Given the description of an element on the screen output the (x, y) to click on. 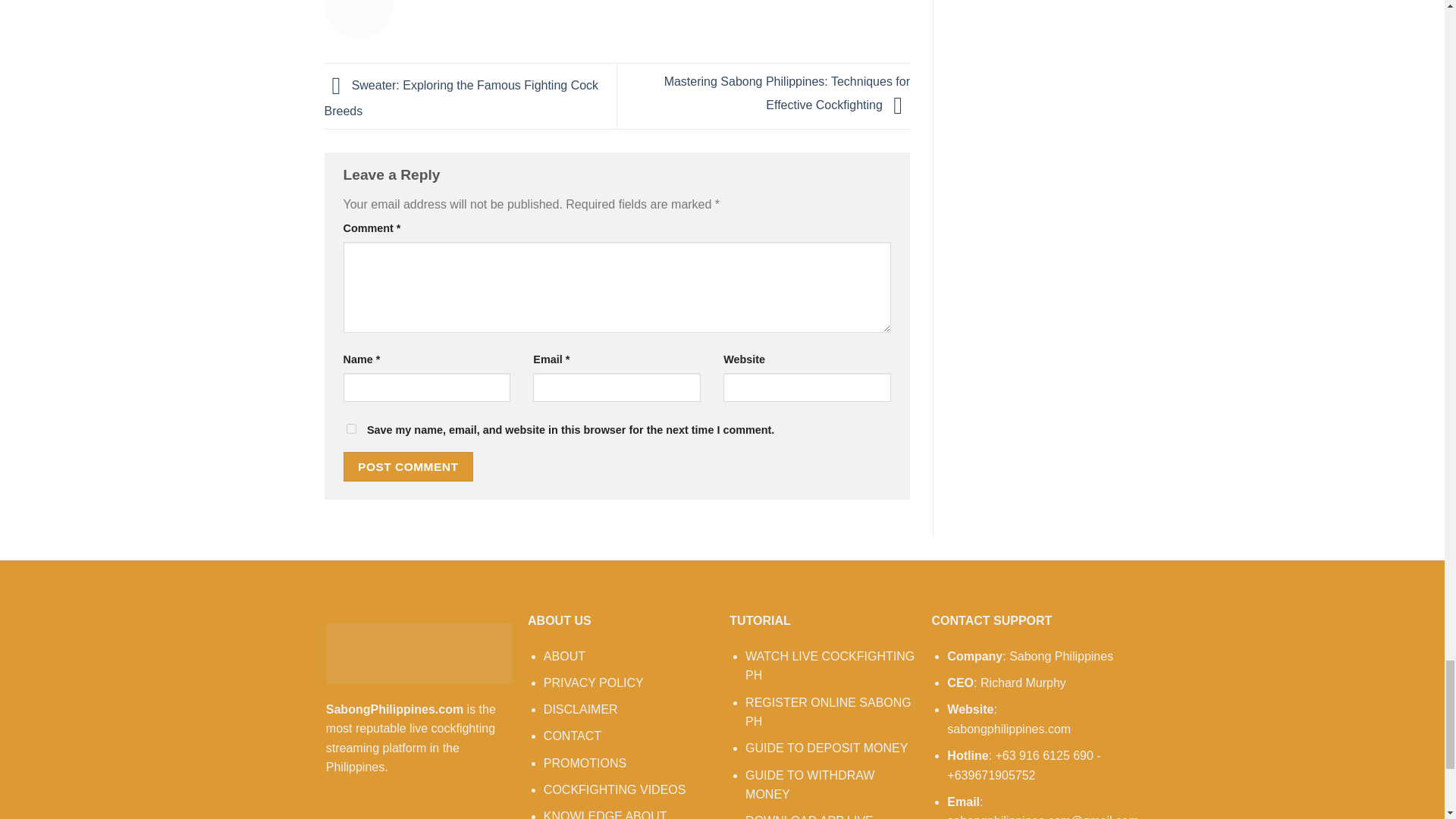
Post Comment (407, 466)
Sweater: Exploring the Famous Fighting Cock Breeds (461, 98)
yes (350, 429)
